Given the description of an element on the screen output the (x, y) to click on. 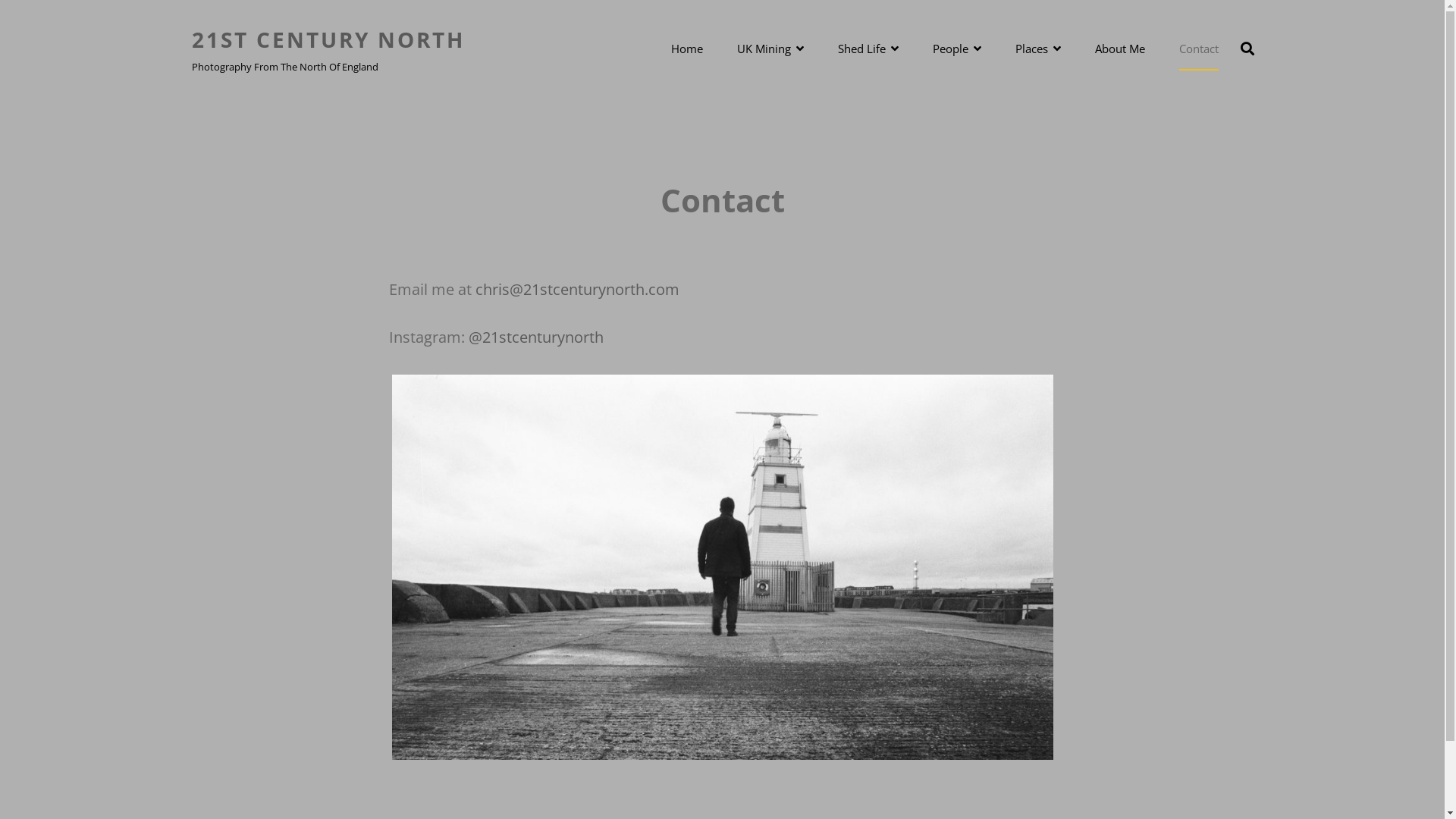
21ST CENTURY NORTH Element type: text (327, 39)
Contact Element type: text (1198, 48)
@21stcenturynorth Element type: text (535, 336)
Shed Life Element type: text (867, 48)
People Element type: text (956, 48)
Places Element type: text (1037, 48)
SEARCH Element type: text (1246, 48)
UK Mining Element type: text (770, 48)
About Me Element type: text (1119, 48)
chris@21stcenturynorth.com Element type: text (576, 289)
Home Element type: text (686, 48)
